Given the description of an element on the screen output the (x, y) to click on. 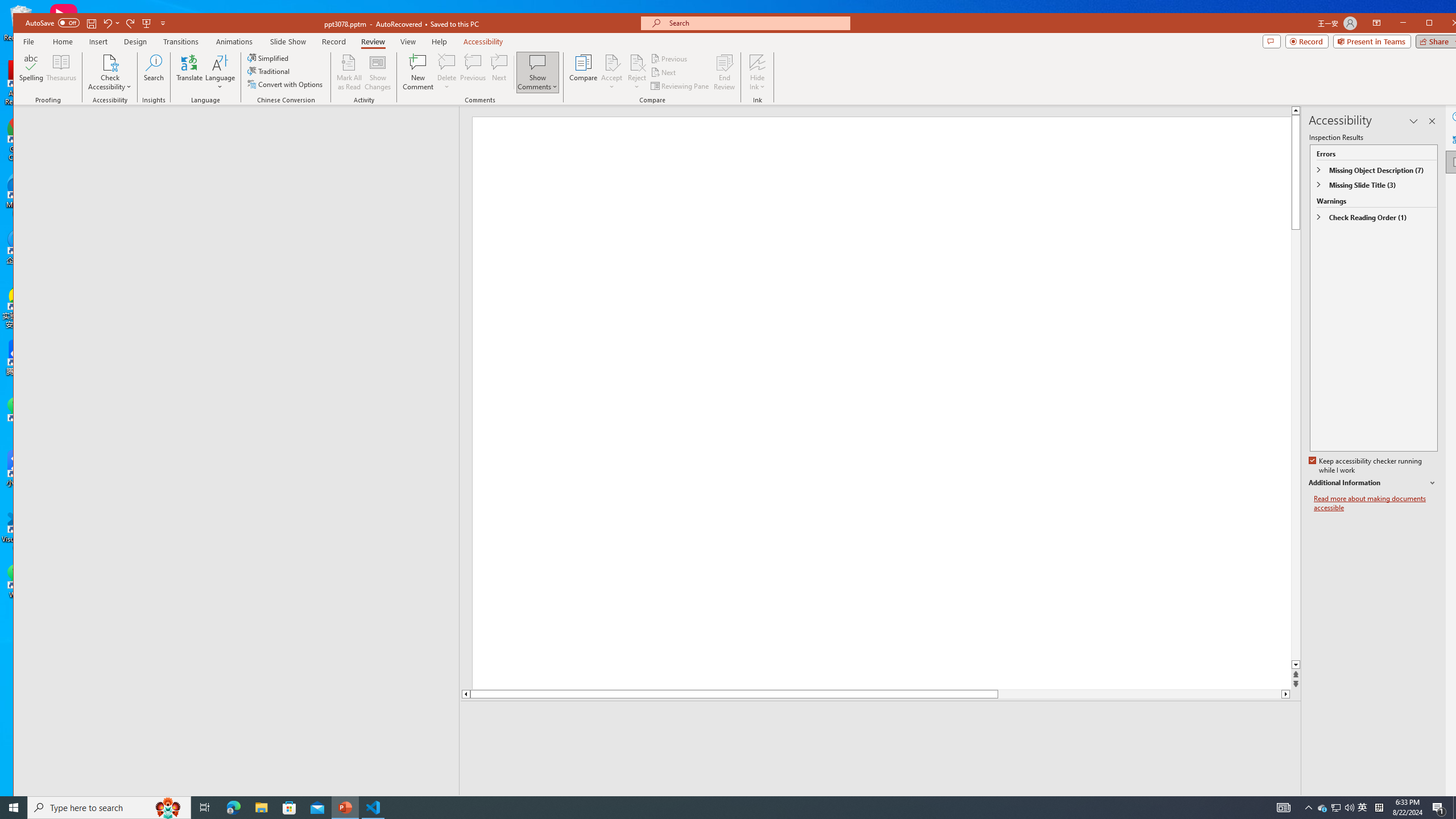
Reject (636, 72)
Translate (188, 72)
Outline (240, 128)
Menu On (1235, 802)
Mark All as Read (349, 72)
